Given the description of an element on the screen output the (x, y) to click on. 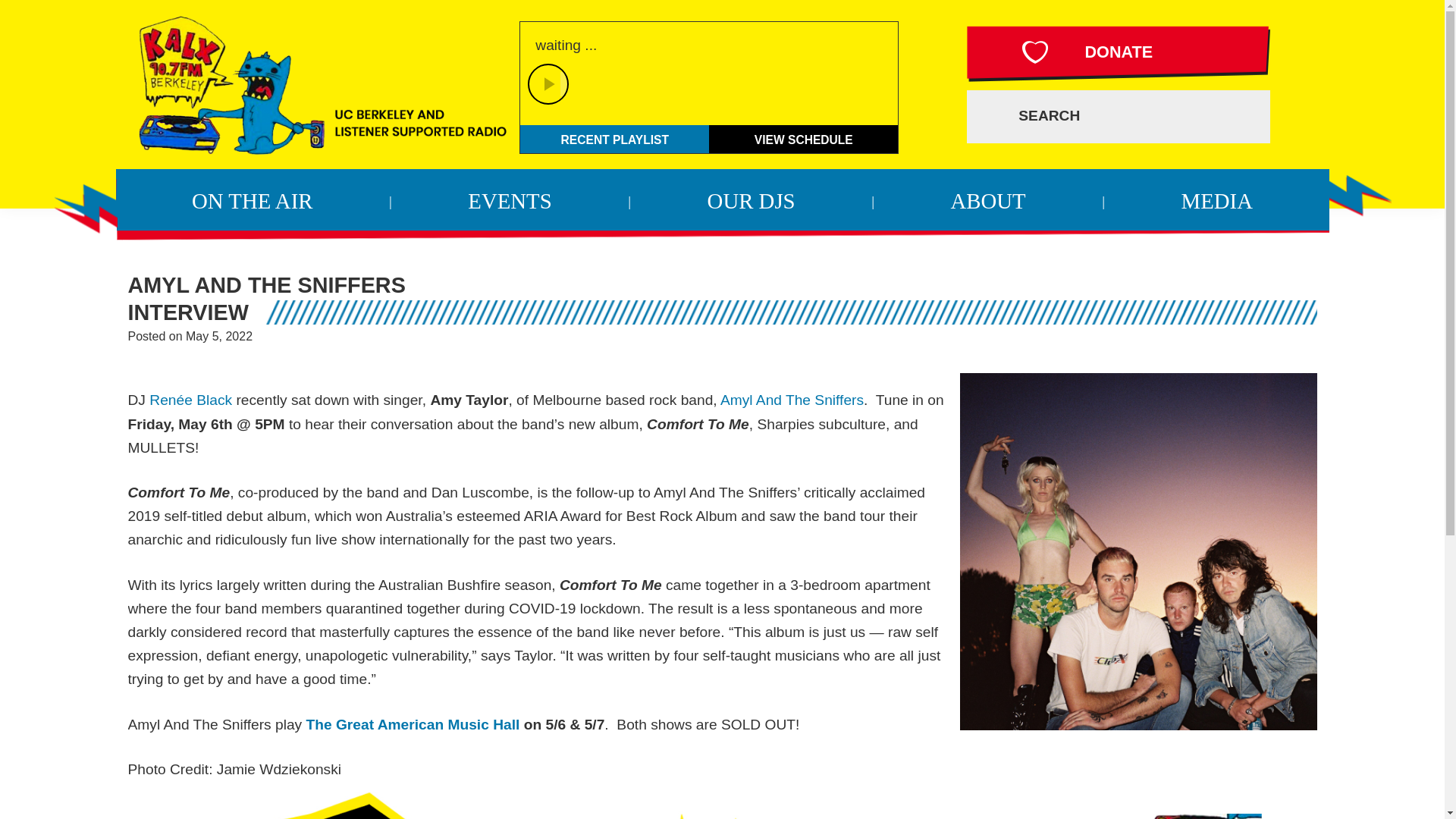
VIEW SCHEDULE (803, 139)
DONATE (1117, 53)
RECENT PLAYLIST (614, 139)
